Given the description of an element on the screen output the (x, y) to click on. 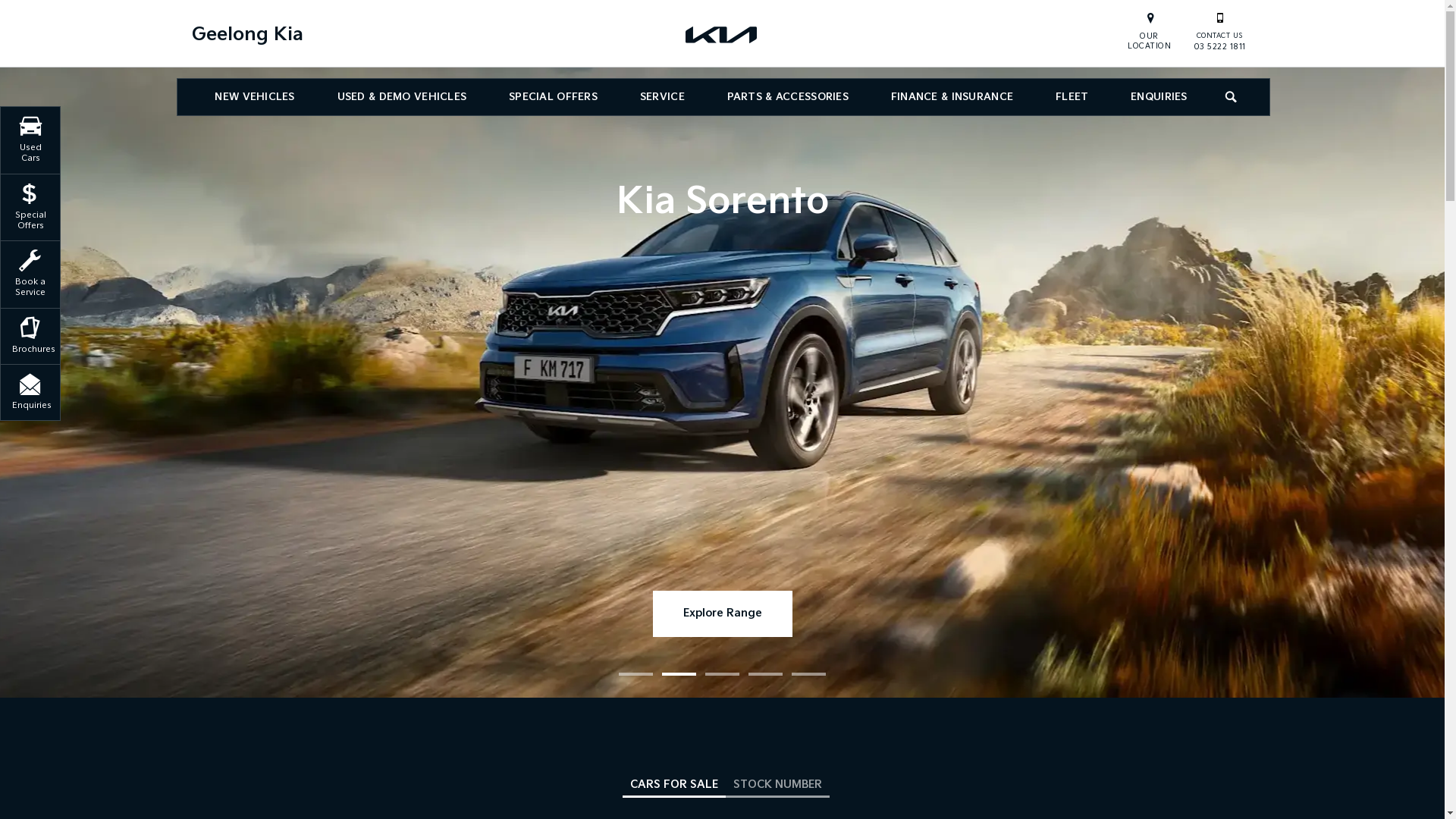
Used Cars Element type: text (30, 137)
NEW VEHICLES Element type: text (255, 96)
Book a Service Element type: text (30, 271)
FLEET Element type: text (1071, 96)
FINANCE & INSURANCE Element type: text (951, 96)
Geelong Kia Element type: hover (721, 33)
STOCK NUMBER Element type: text (777, 785)
SEARCH Element type: text (1231, 96)
Explore Range Element type: text (721, 613)
Special Offers Element type: text (30, 205)
PARTS & ACCESSORIES Element type: text (787, 96)
ENQUIRIES Element type: text (1158, 96)
SPECIAL OFFERS Element type: text (552, 96)
Geelong Kia Element type: text (246, 35)
SERVICE Element type: text (662, 96)
CARS FOR SALE Element type: text (673, 785)
USED & DEMO VEHICLES Element type: text (401, 96)
Brochures Element type: text (30, 333)
Enquiries Element type: text (30, 389)
